Given the description of an element on the screen output the (x, y) to click on. 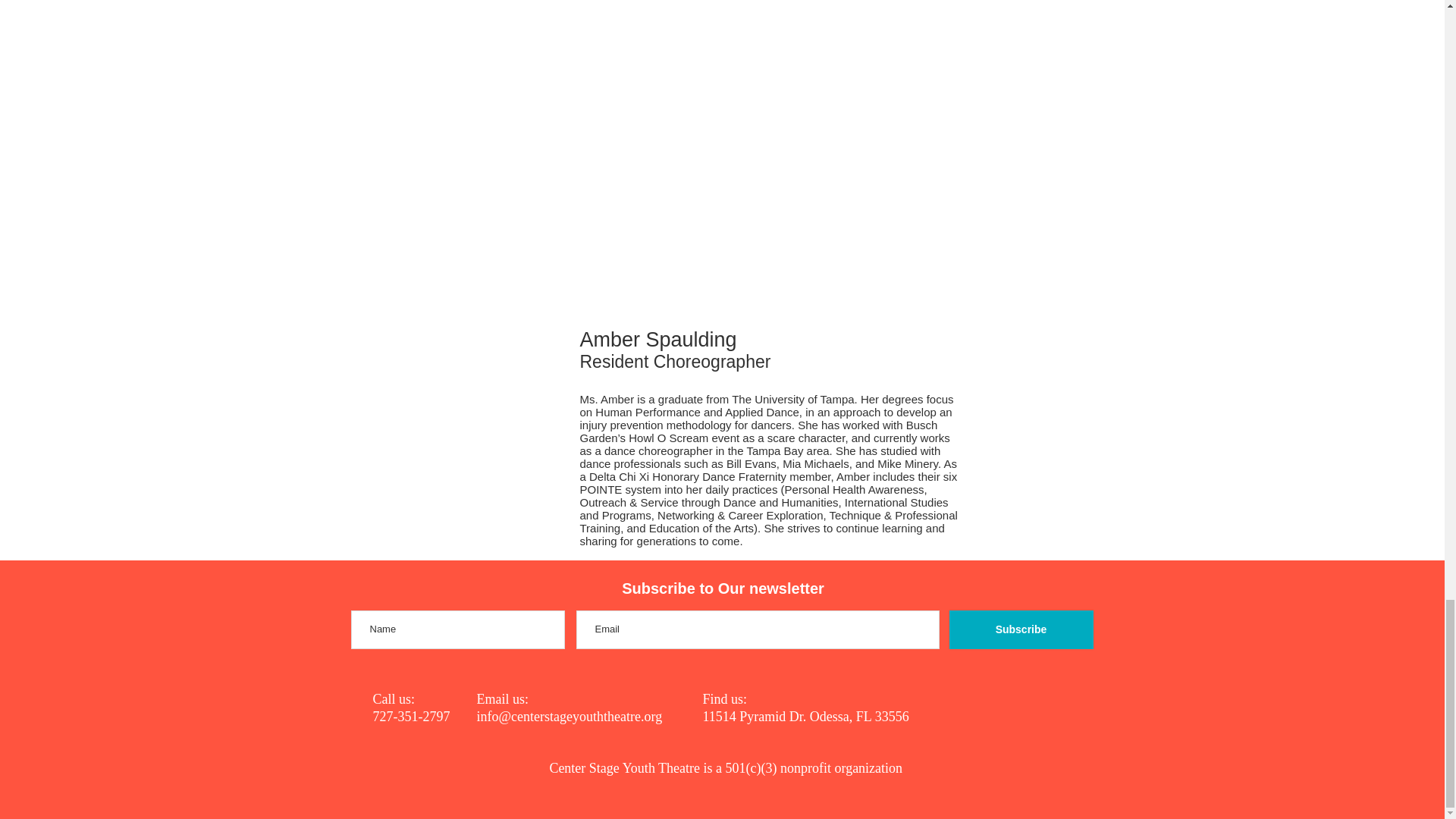
Subscribe (1021, 629)
